Given the description of an element on the screen output the (x, y) to click on. 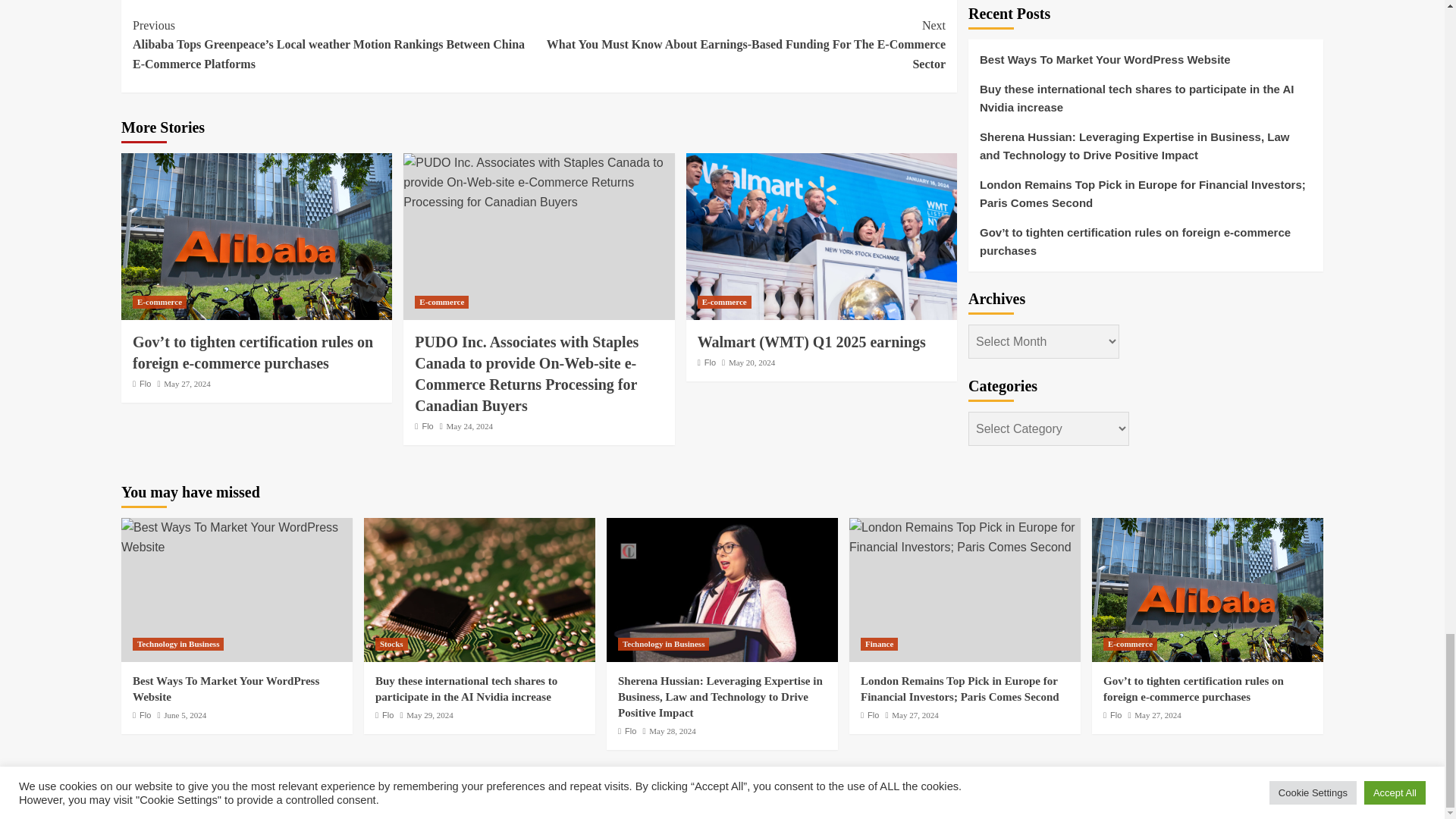
E-commerce (441, 301)
Best Ways To Market Your WordPress Website (236, 536)
E-commerce (159, 301)
Flo (427, 425)
